Given the description of an element on the screen output the (x, y) to click on. 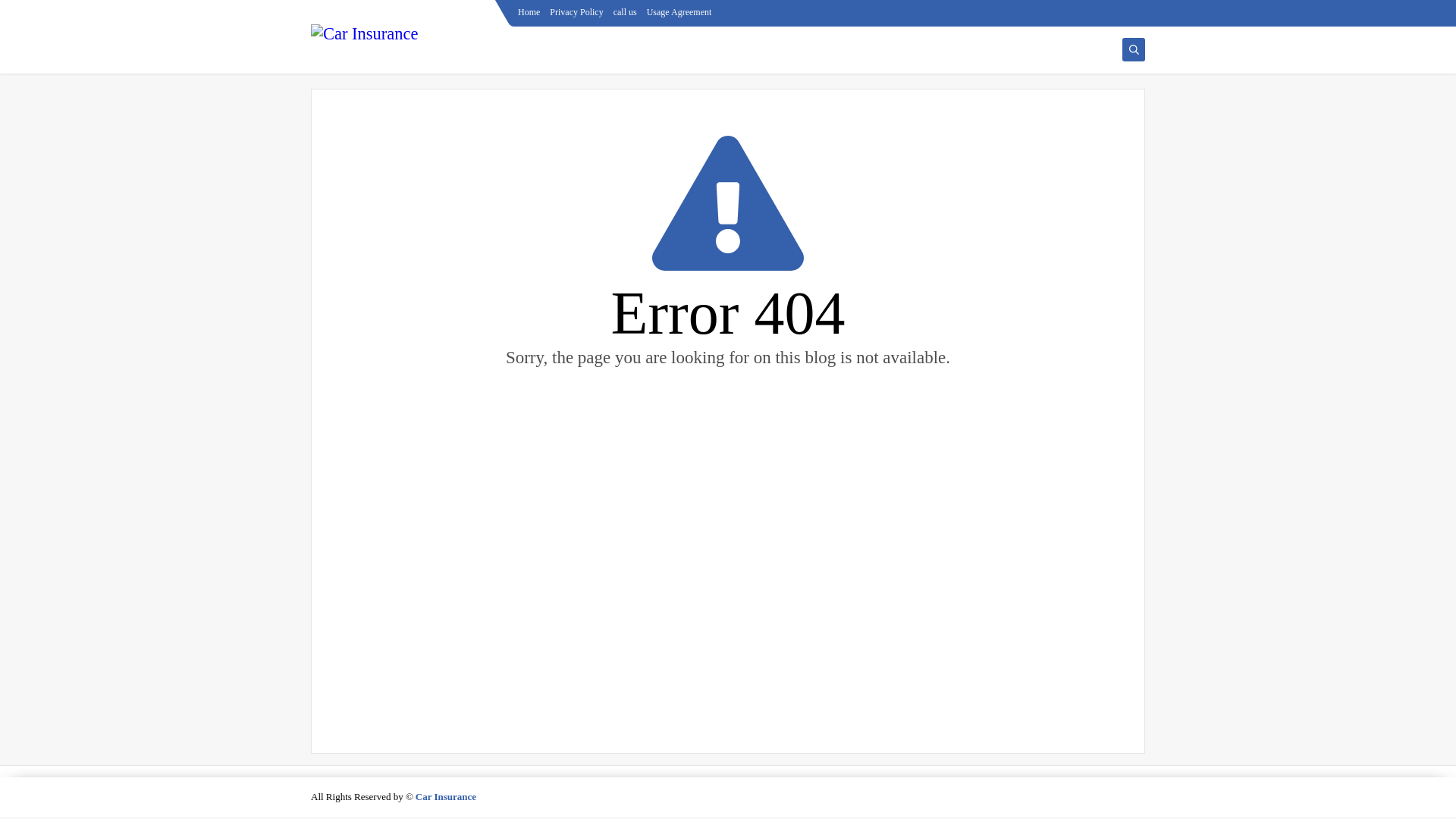
call us (624, 10)
Usage Agreement (678, 10)
Privacy Policy (576, 10)
Car Insurance (445, 797)
Home (529, 10)
